Given the description of an element on the screen output the (x, y) to click on. 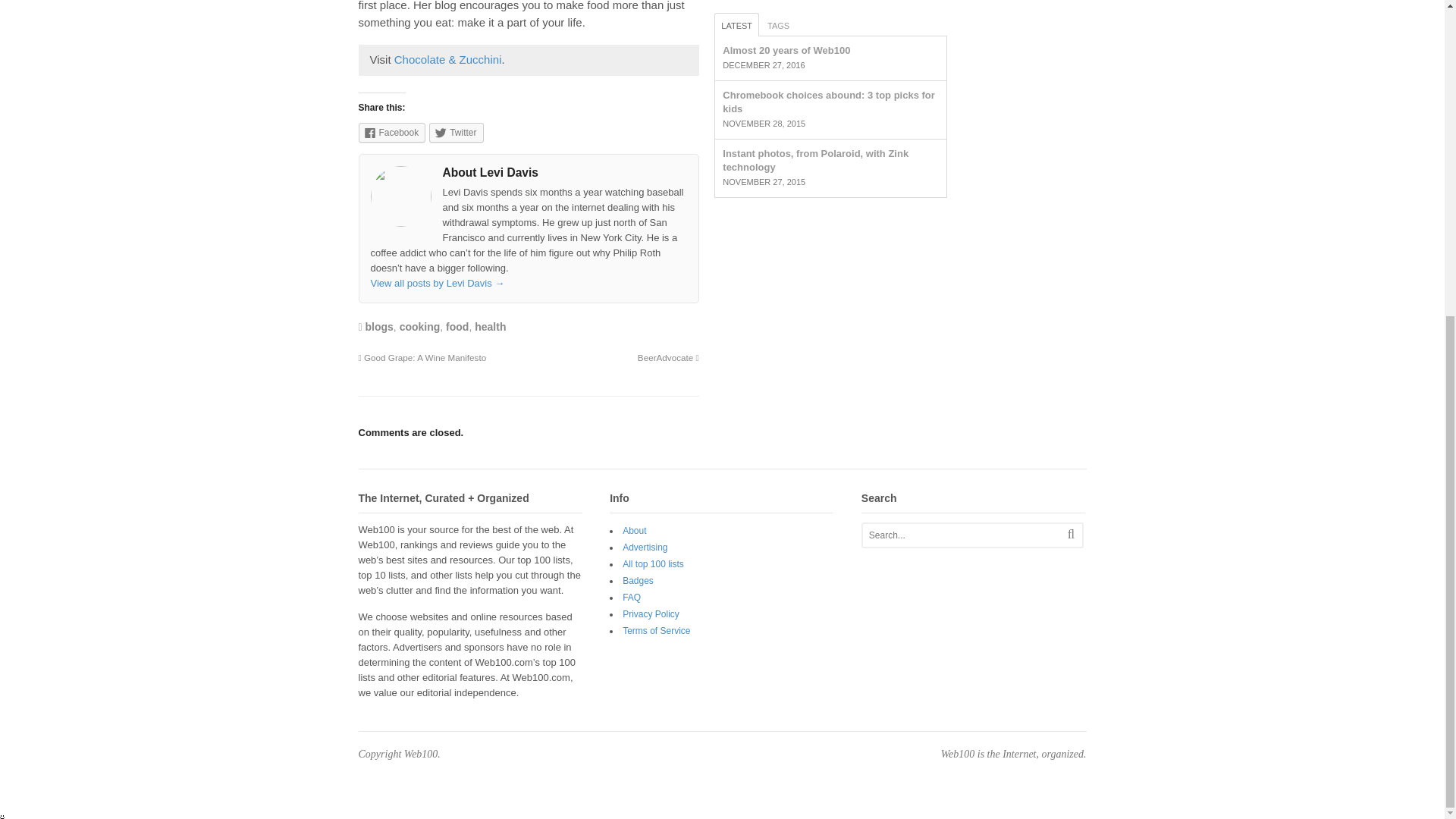
Chromebook choices abound: 3 top picks for kids (828, 101)
Click to share on Facebook (391, 132)
Almost 20 years of Web100 (786, 50)
Click to share on Twitter (456, 132)
Search... (962, 535)
Instant photos, from Polaroid, with Zink technology (815, 160)
